Given the description of an element on the screen output the (x, y) to click on. 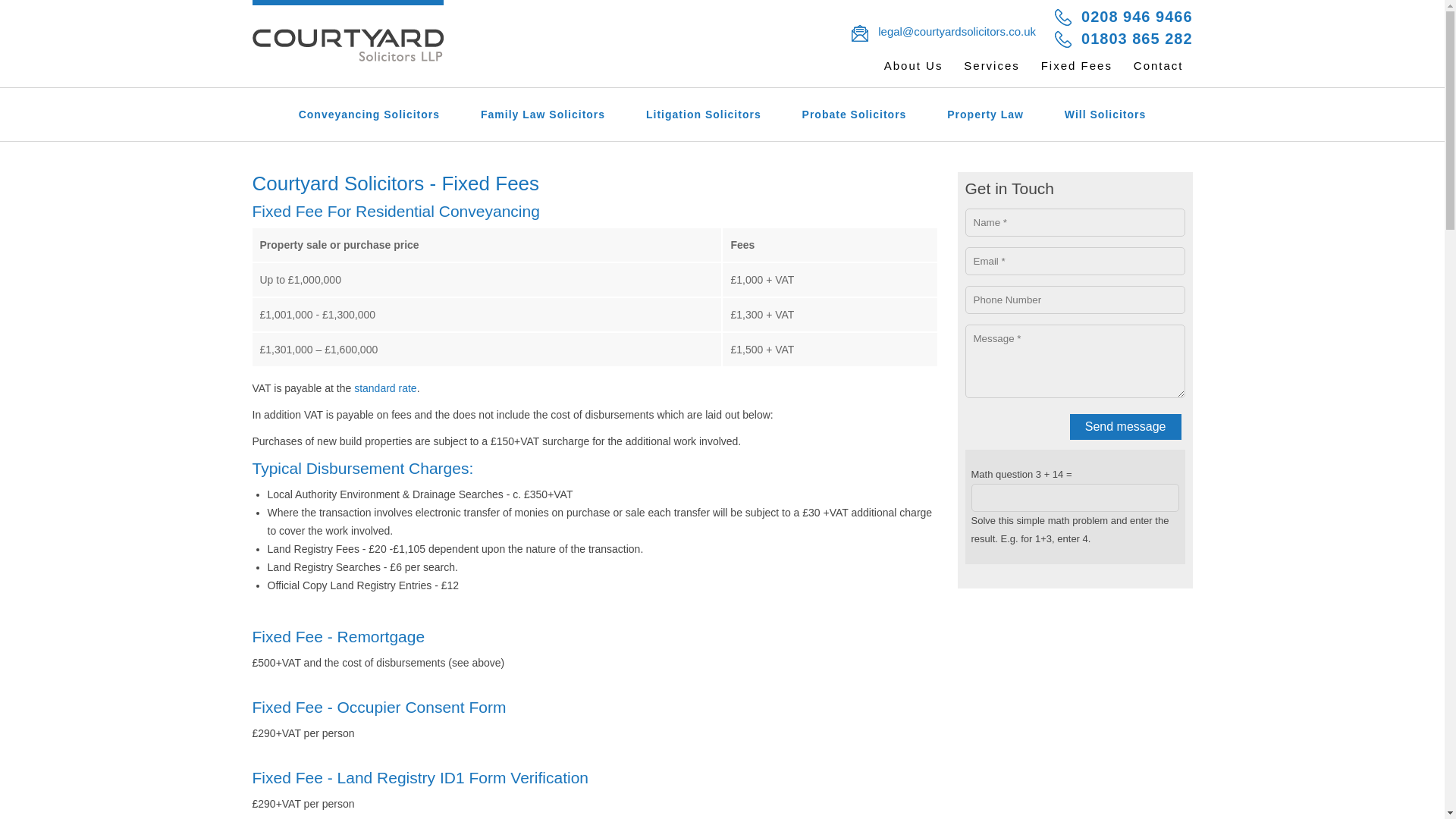
Services (992, 65)
Property Law (985, 114)
standard rate (384, 387)
Fixed Fee - Occupier Consent Form (378, 706)
01803 865 282 (1119, 40)
Fixed Fee For Residential Conveyancing (394, 211)
Probate Solicitors (854, 114)
Litigation Solicitors (703, 114)
Fixed Fee - Remortgage (338, 636)
Fixed Fee - Land Registry ID1 Form Verification (419, 777)
